Given the description of an element on the screen output the (x, y) to click on. 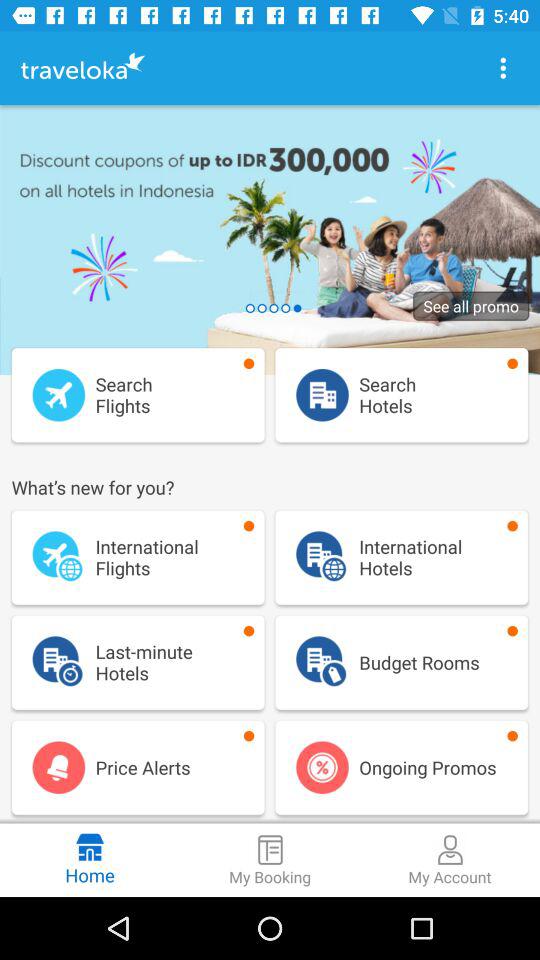
turn off see all promo item (471, 305)
